Given the description of an element on the screen output the (x, y) to click on. 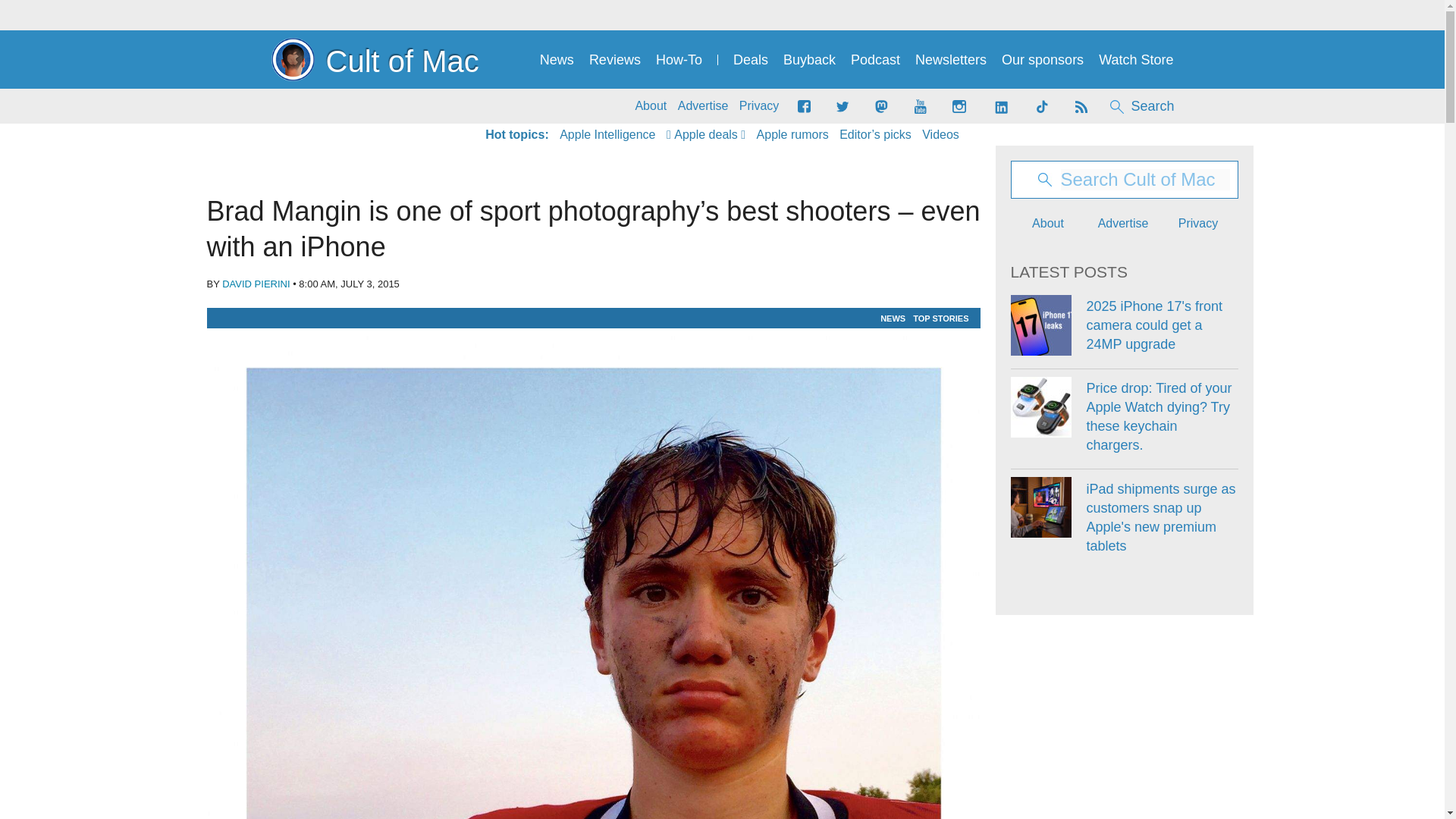
How-To (678, 59)
Apple Intelligence (607, 134)
News (556, 59)
Watch Store (1135, 59)
Reviews (613, 59)
Apple Intelligence (607, 134)
Cult of Mac (374, 59)
Buyback (809, 59)
Videos (940, 134)
Hot topics: (516, 134)
Apple deals  (705, 134)
Privacy (758, 105)
Apple legal battles (792, 134)
Apple rumors (792, 134)
Advertise (703, 105)
